Given the description of an element on the screen output the (x, y) to click on. 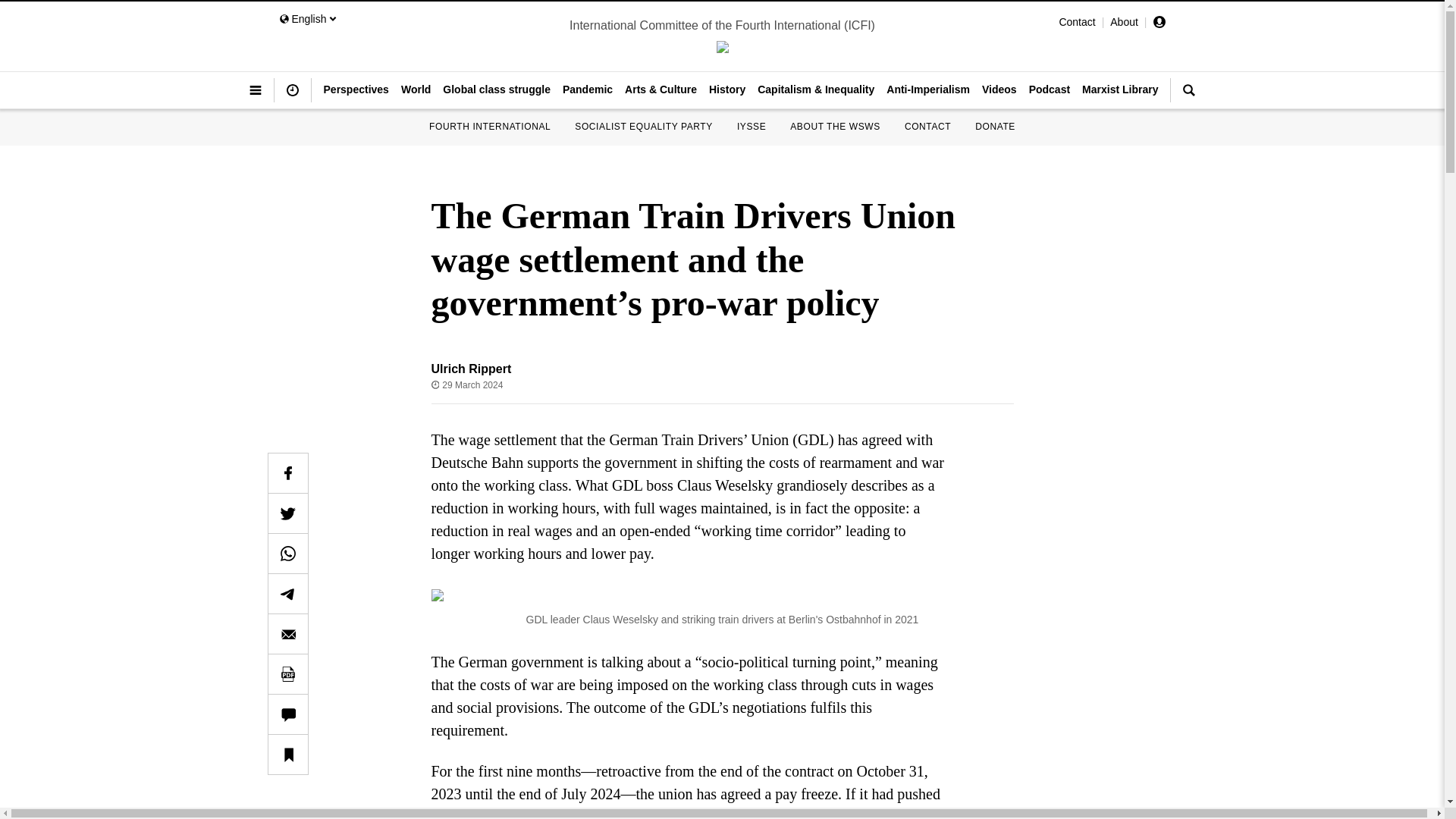
ABOUT THE WSWS (835, 126)
Anti-Imperialism (927, 89)
Global class struggle (496, 89)
Search (1188, 95)
FOURTH INTERNATIONAL (489, 126)
SOCIALIST EQUALITY PARTY (644, 126)
Menu (255, 95)
Podcast (1049, 89)
Add to reading list (287, 753)
Latest (293, 95)
Profile (1158, 24)
Videos (999, 89)
Ulrich Rippert (470, 368)
Contact (1076, 21)
